Given the description of an element on the screen output the (x, y) to click on. 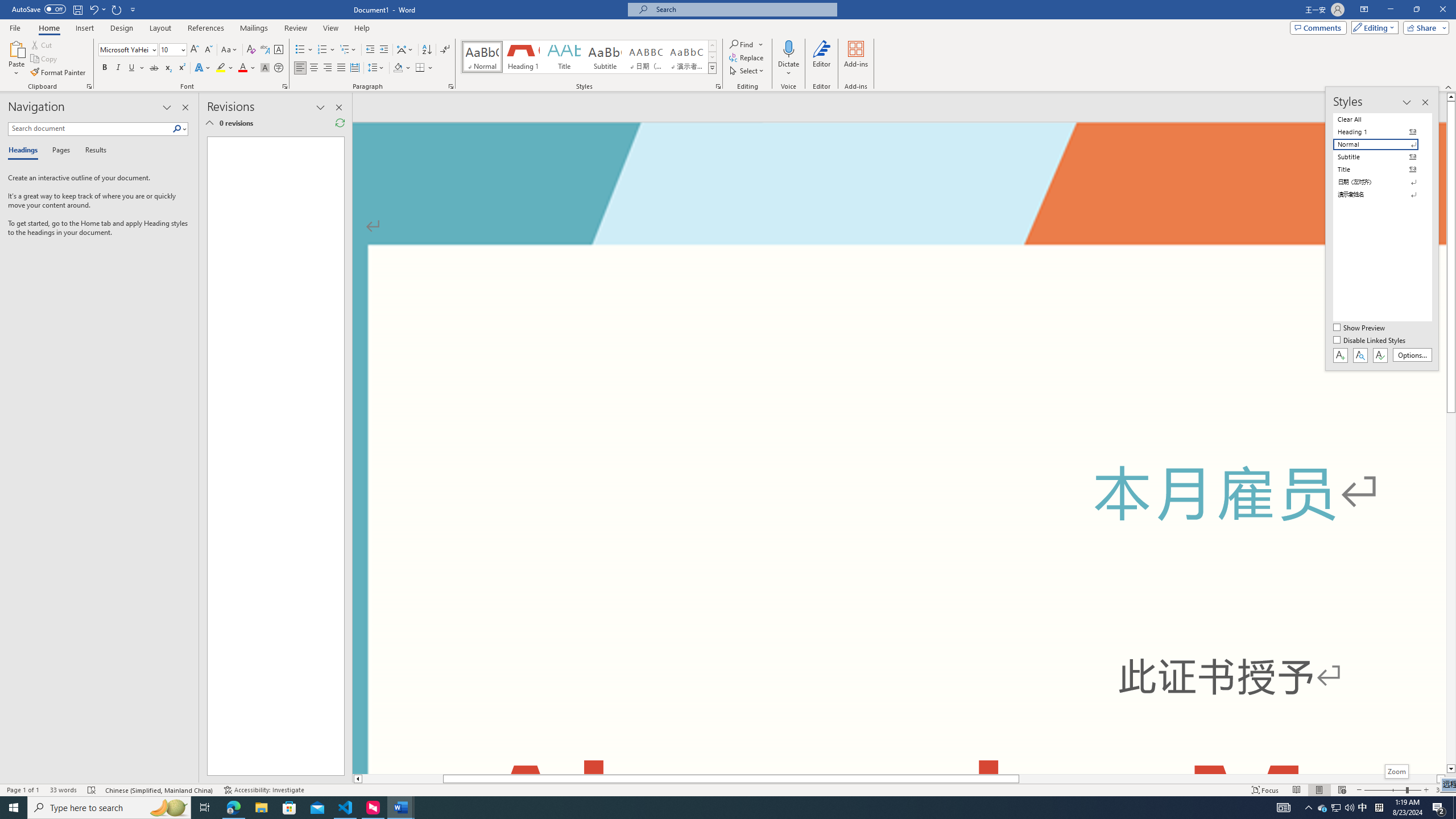
Refresh Reviewing Pane (339, 122)
Subtitle (605, 56)
Title (564, 56)
